Given the description of an element on the screen output the (x, y) to click on. 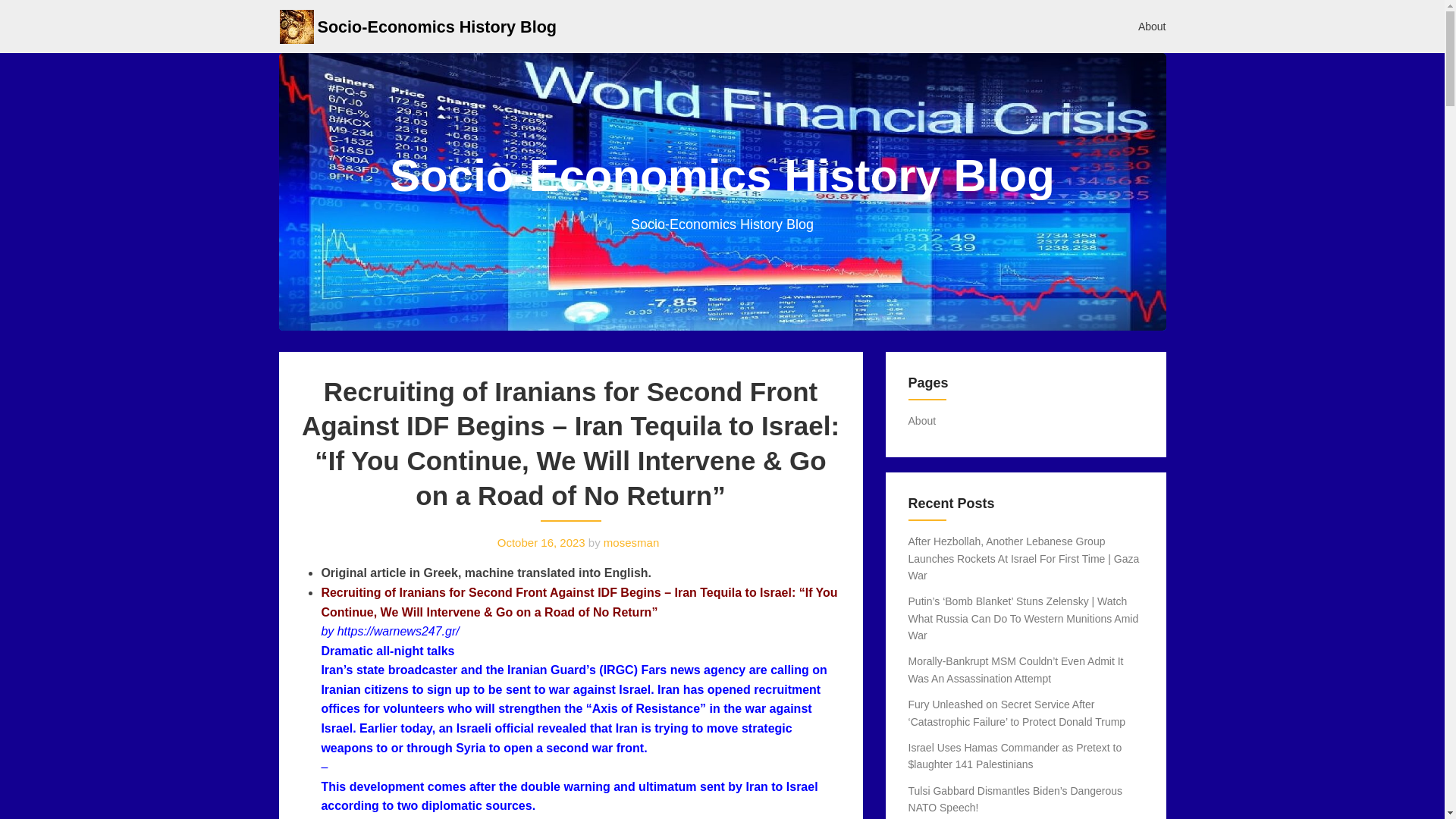
About (1151, 26)
Socio-Economics History Blog (436, 26)
About (922, 420)
October 16, 2023 (541, 542)
